Given the description of an element on the screen output the (x, y) to click on. 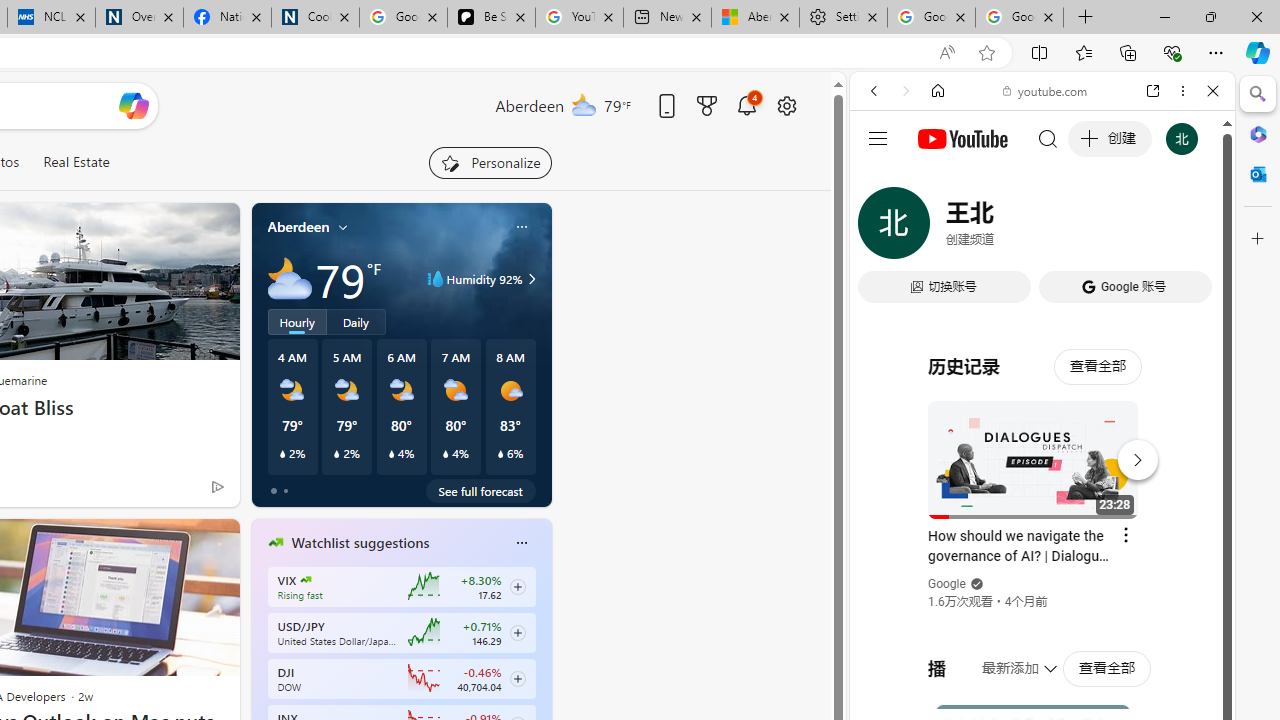
SEARCH TOOLS (1093, 228)
next (541, 670)
Web scope (882, 180)
#you (1042, 445)
Mostly cloudy (289, 278)
Search videos from youtube.com (1005, 657)
